Given the description of an element on the screen output the (x, y) to click on. 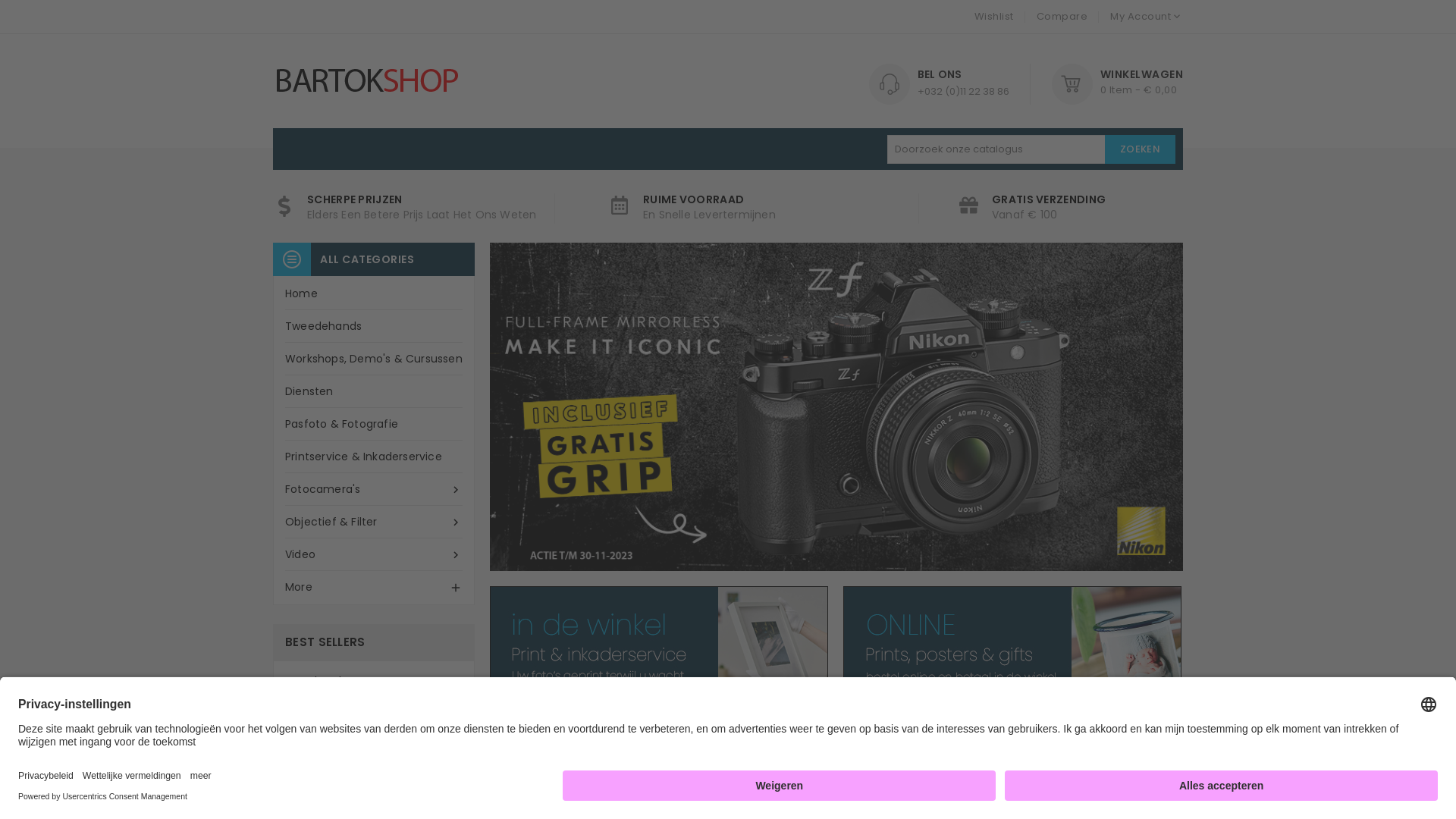
Workshops, Demo'S & Cursussen Element type: text (373, 358)
Pasfoto & Fotografie Element type: text (373, 423)
Compare Element type: text (1061, 16)
FEATURED PRODUCTS Element type: text (571, 748)
Home Element type: text (373, 293)
Diensten Element type: text (373, 391)
Cadeaubon Element type: text (327, 680)
Nikon FTZ II Mount Adapter Element type: text (403, 741)
Tweedehands Element type: text (373, 326)
Printservice & Inkaderservice Element type: text (373, 456)
BEST SELLERS Element type: text (850, 748)
  Element type: text (1144, 742)
Wishlist Element type: text (993, 16)
  Element type: text (1171, 742)
ZOEKEN Element type: text (1139, 148)
NEW PRODUCTS Element type: text (723, 748)
